Given the description of an element on the screen output the (x, y) to click on. 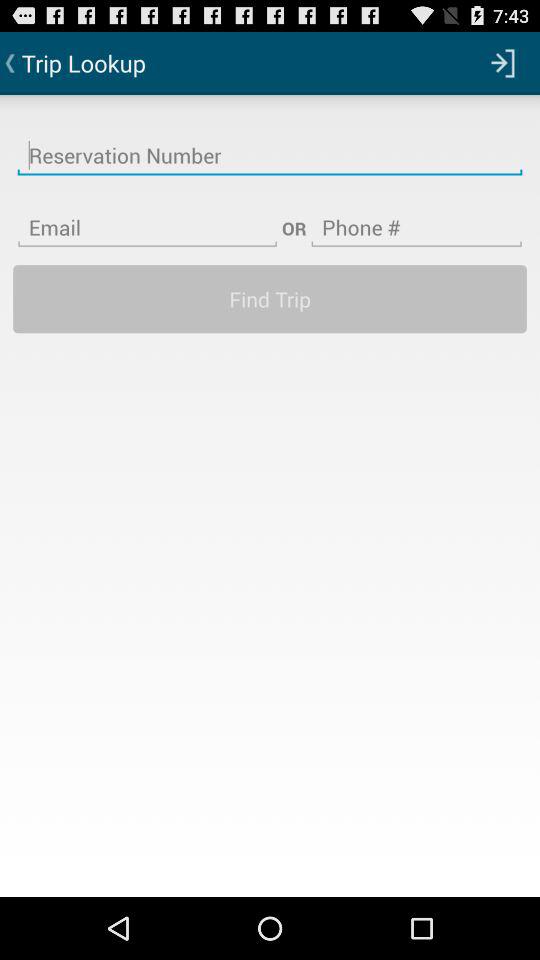
open item next to or item (147, 215)
